Given the description of an element on the screen output the (x, y) to click on. 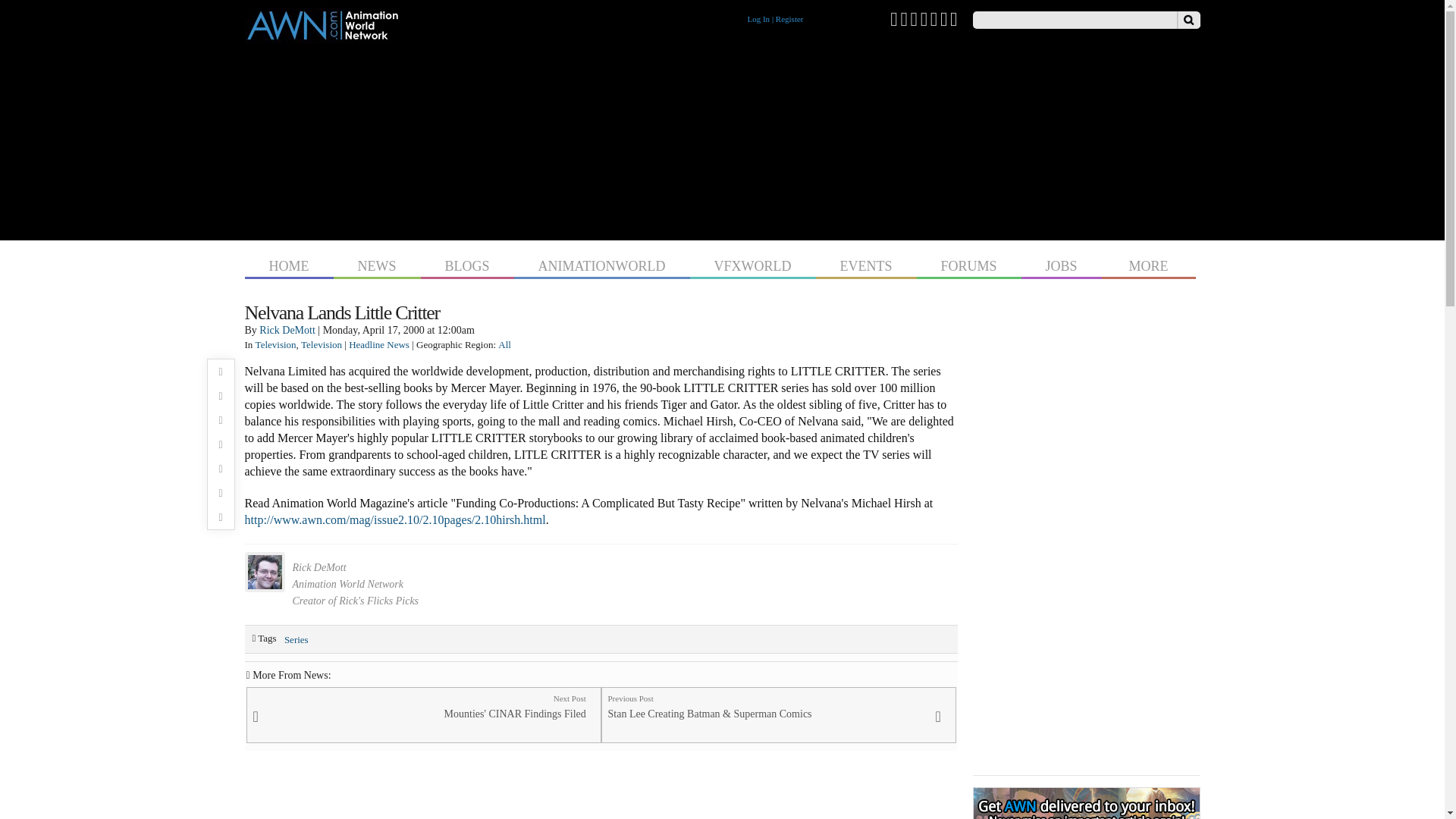
Register (789, 18)
All (504, 344)
VFXWORLD (752, 263)
Subscribe to AWN (954, 18)
BLOGS (466, 263)
HOME (288, 263)
Visit AWN on FlipBoard (943, 18)
MORE (1148, 263)
Visit AWN on Twitter (893, 18)
ANIMATIONWORLD (601, 263)
JOBS (1062, 263)
Animation World Network (321, 35)
Search (1187, 19)
Log In (758, 18)
3rd party ad content (722, 137)
